Given the description of an element on the screen output the (x, y) to click on. 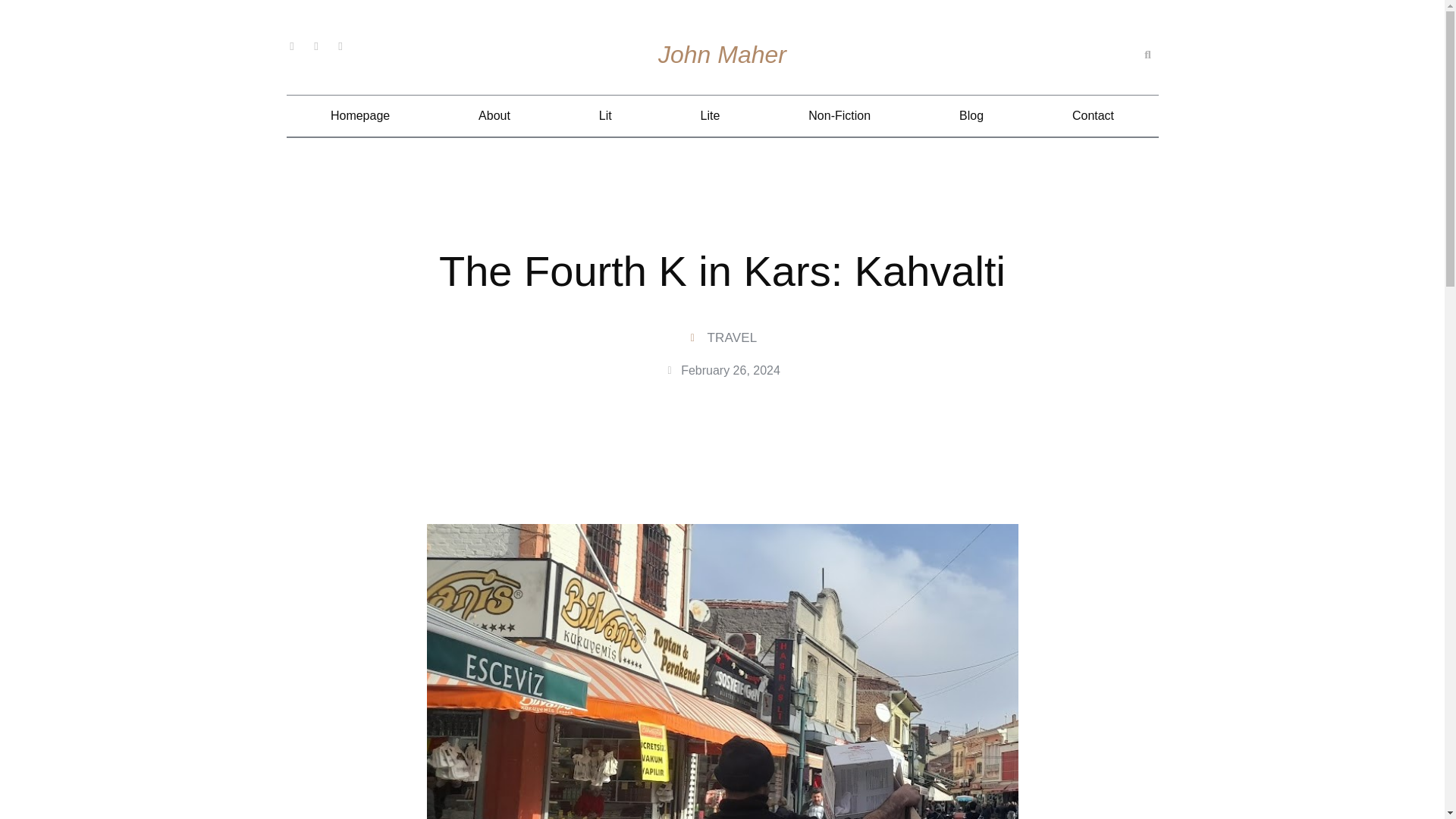
Contact (1092, 116)
Blog (971, 116)
John Maher (722, 53)
Lite (710, 116)
About (493, 116)
Homepage (359, 116)
Non-Fiction (839, 116)
TRAVEL (731, 337)
Lit (605, 116)
February 26, 2024 (721, 370)
